Given the description of an element on the screen output the (x, y) to click on. 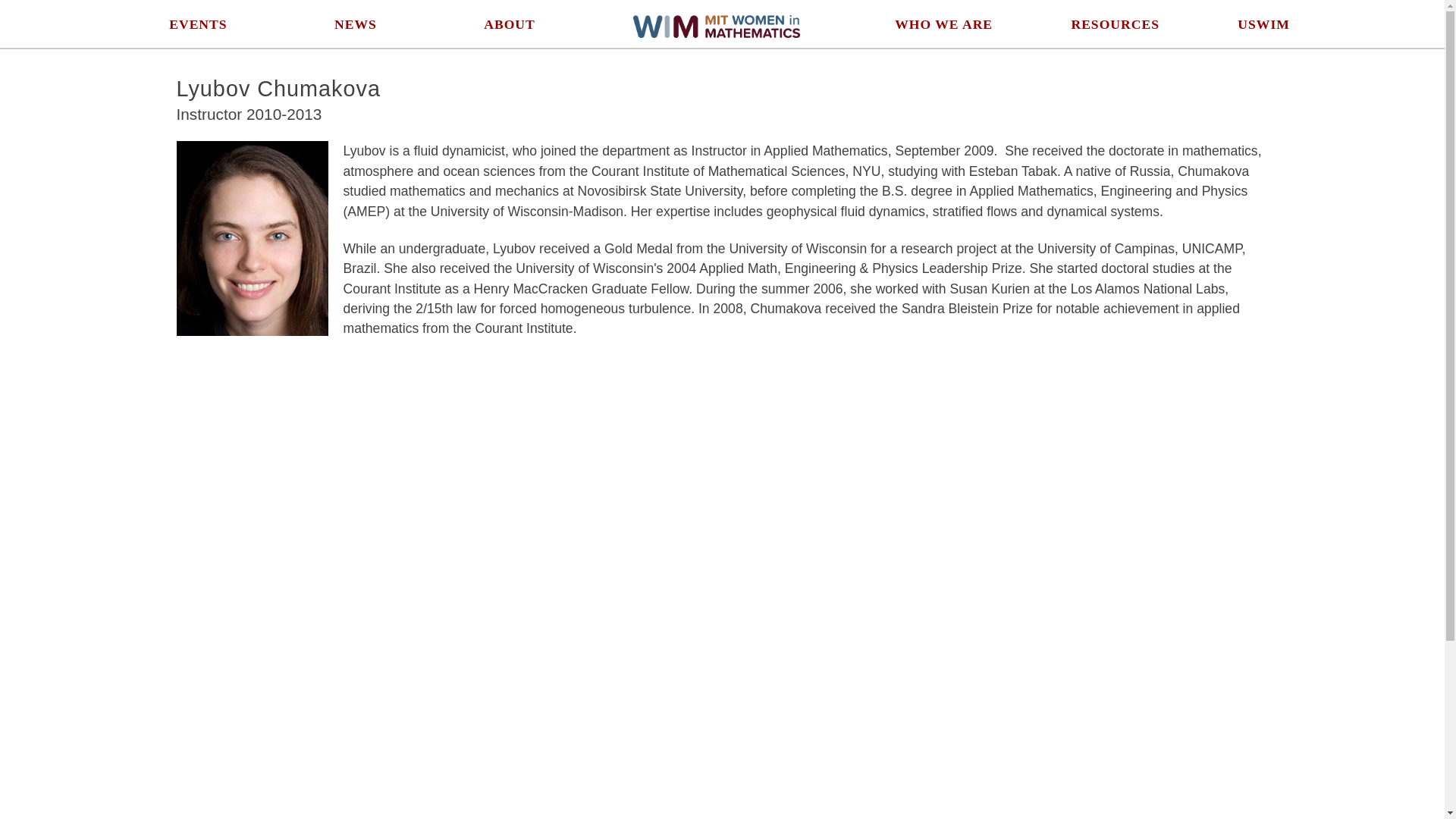
WHO WE ARE (943, 23)
RESOURCES (1114, 23)
USWIM (1263, 23)
ABOUT (509, 23)
NEWS (355, 23)
EVENTS (197, 23)
